Given the description of an element on the screen output the (x, y) to click on. 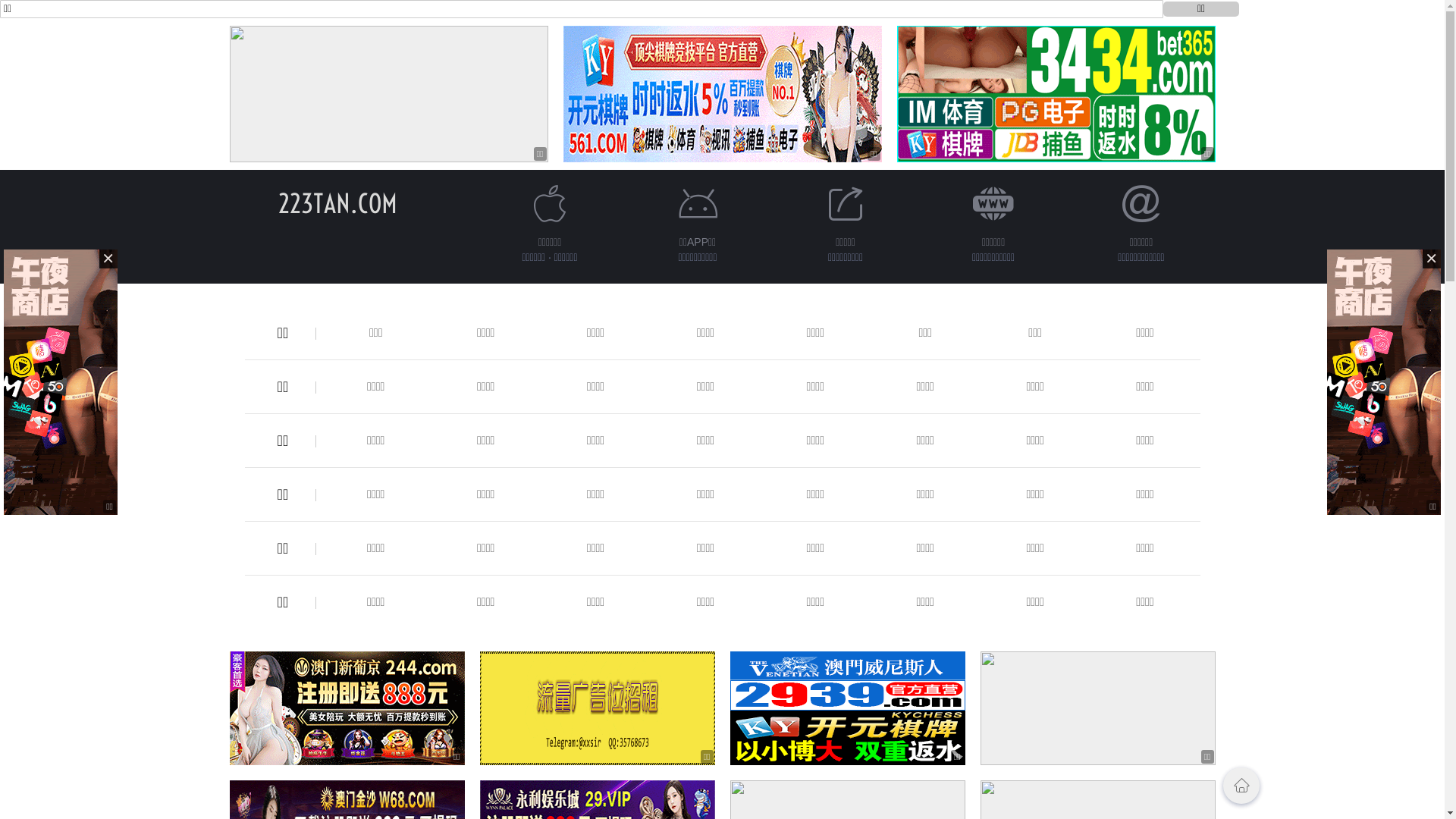
223TAN.COM Element type: text (337, 203)
